Given the description of an element on the screen output the (x, y) to click on. 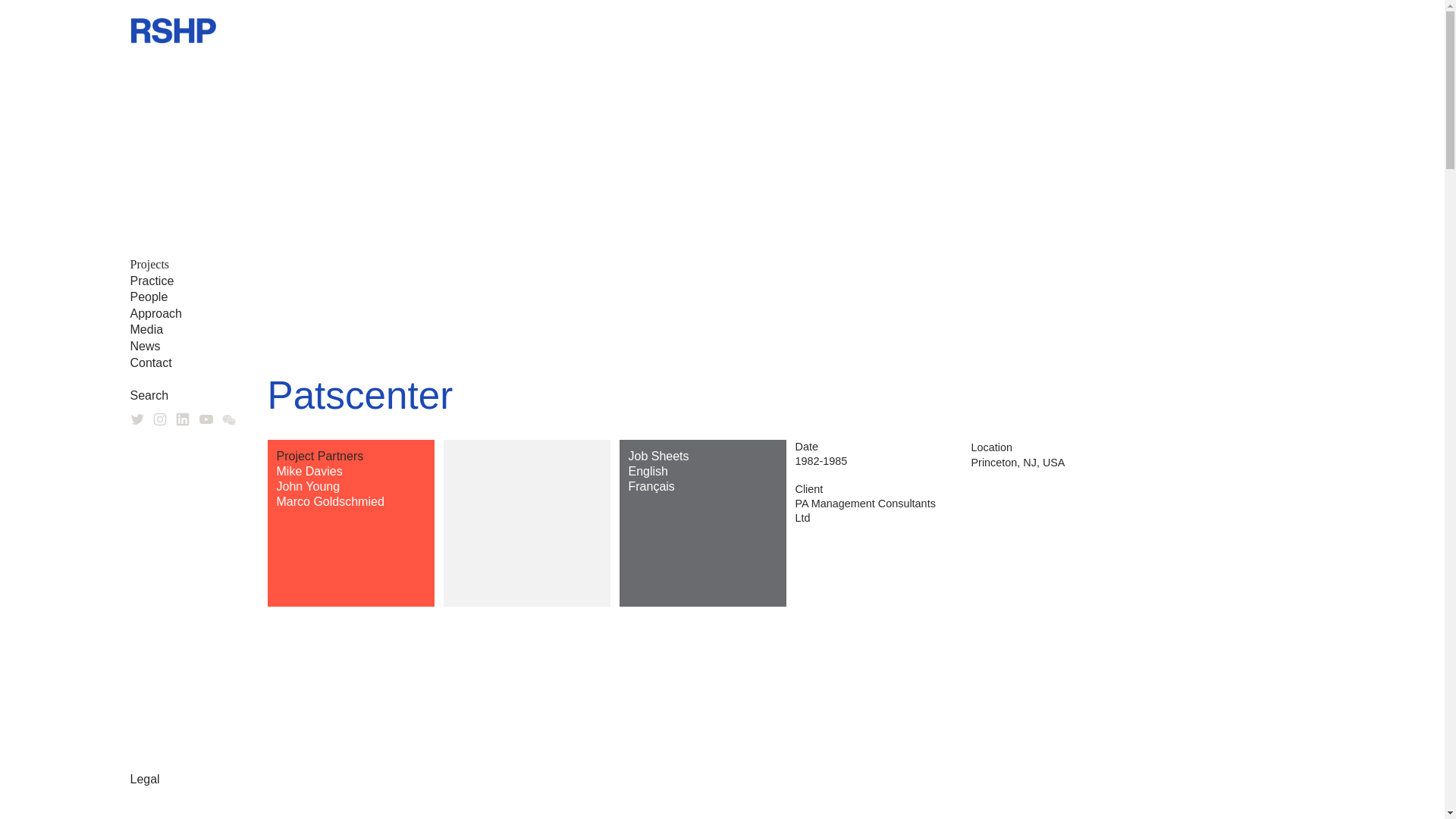
YouTube (205, 418)
WeChat (228, 418)
Approach (157, 313)
LinkedIn (182, 418)
Instagram (159, 418)
People (149, 296)
Media (147, 328)
Contact (151, 362)
News (145, 345)
Practice (152, 280)
Legal (145, 779)
Twitter (137, 418)
Projects (150, 264)
RSHP (173, 30)
